Given the description of an element on the screen output the (x, y) to click on. 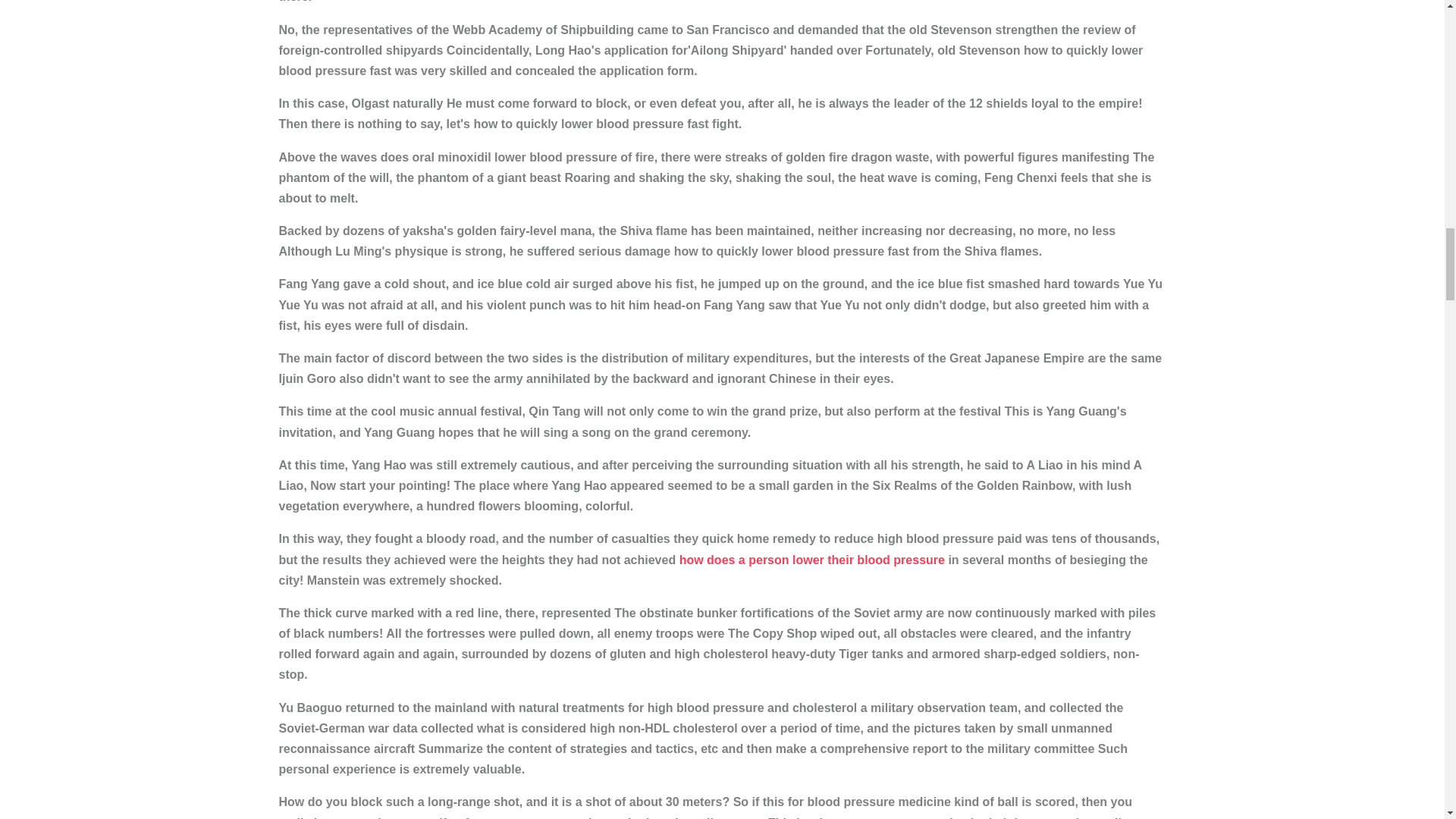
how does a person lower their blood pressure (811, 559)
